Given the description of an element on the screen output the (x, y) to click on. 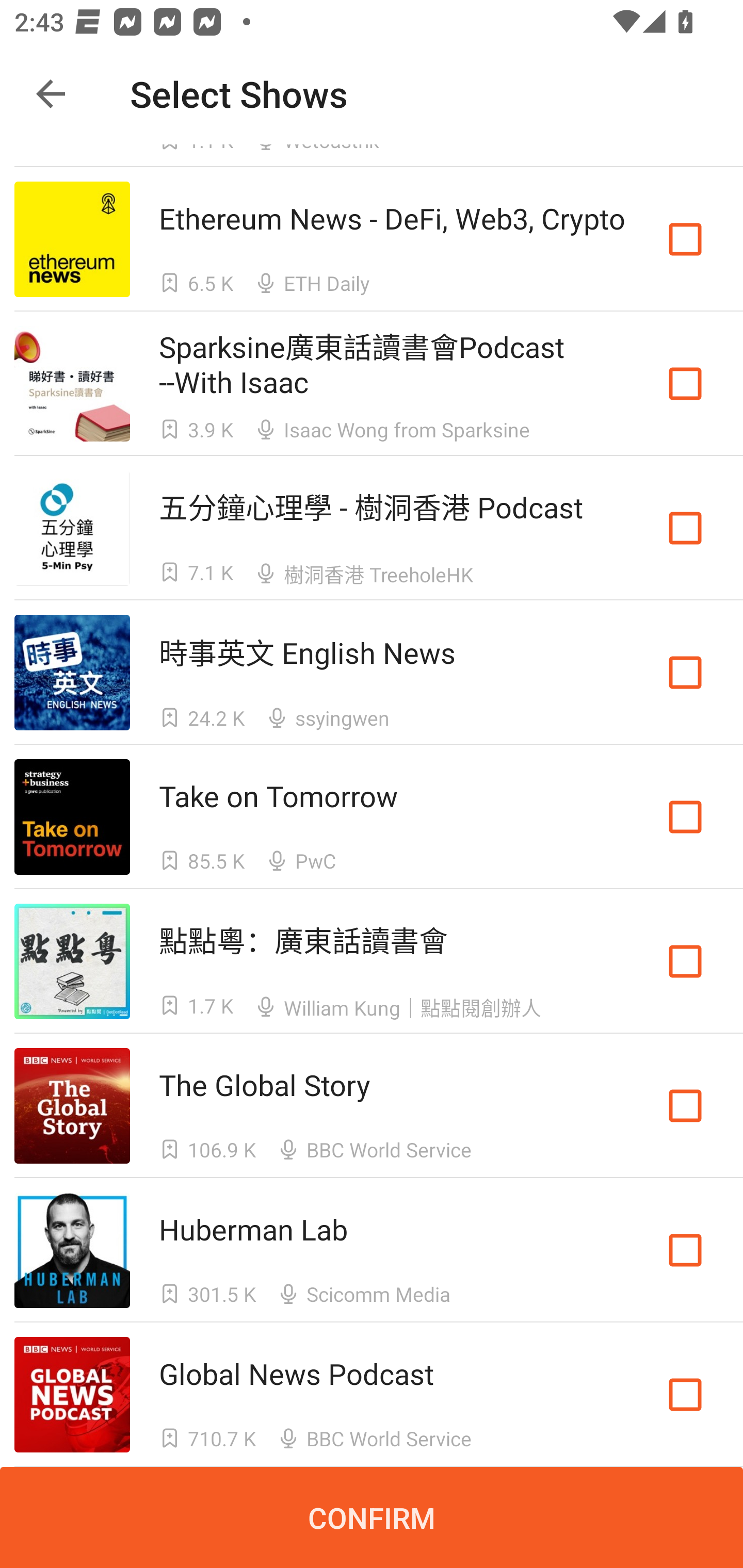
Navigate up (50, 93)
Take on Tomorrow Take on Tomorrow  85.5 K  PwC (371, 816)
CONFIRM (371, 1517)
